Given the description of an element on the screen output the (x, y) to click on. 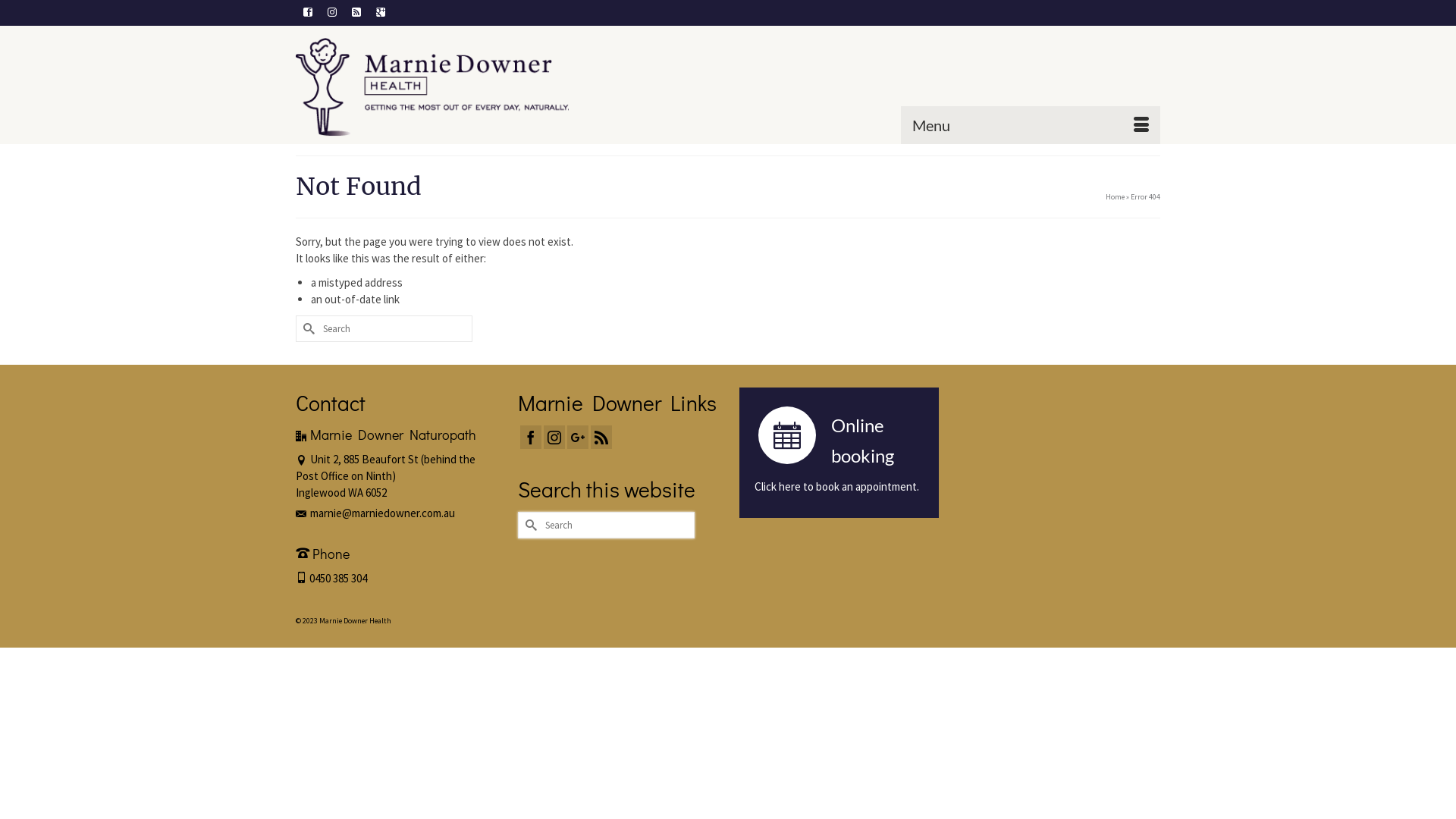
marnie@marniedowner.com.au Element type: text (375, 512)
0450 385 304 Element type: text (331, 578)
Marnie Downer Health Element type: hover (431, 86)
Home Element type: text (1114, 196)
Menu Element type: text (1030, 125)
Online booking
Click here to book an appointment. Element type: text (838, 452)
